Given the description of an element on the screen output the (x, y) to click on. 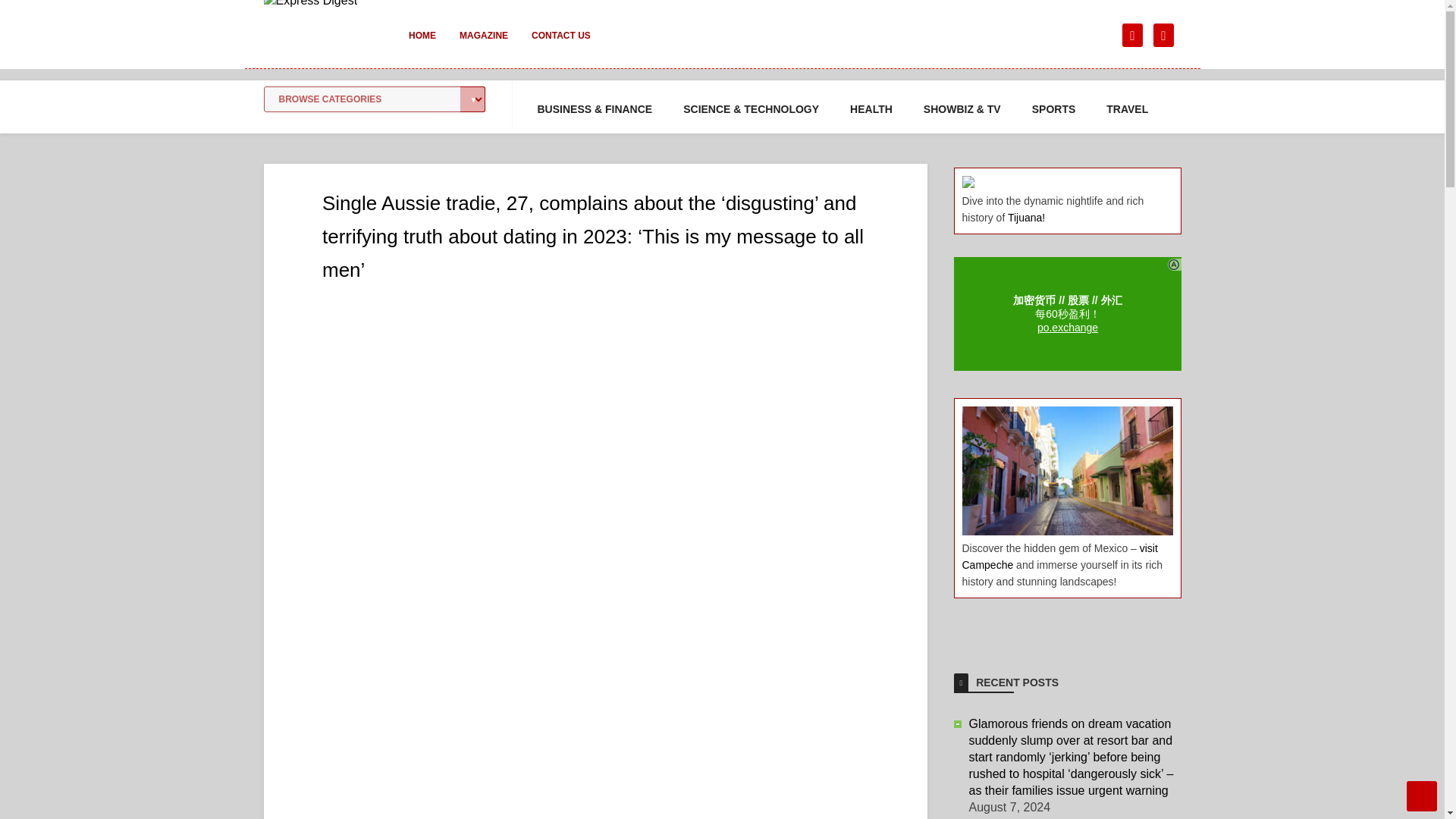
CONTACT US (560, 45)
Tijuana! (1026, 217)
SPORTS (1053, 109)
TRAVEL (1127, 109)
HEALTH (871, 109)
visit Campeche (1058, 556)
MAGAZINE (482, 45)
